Given the description of an element on the screen output the (x, y) to click on. 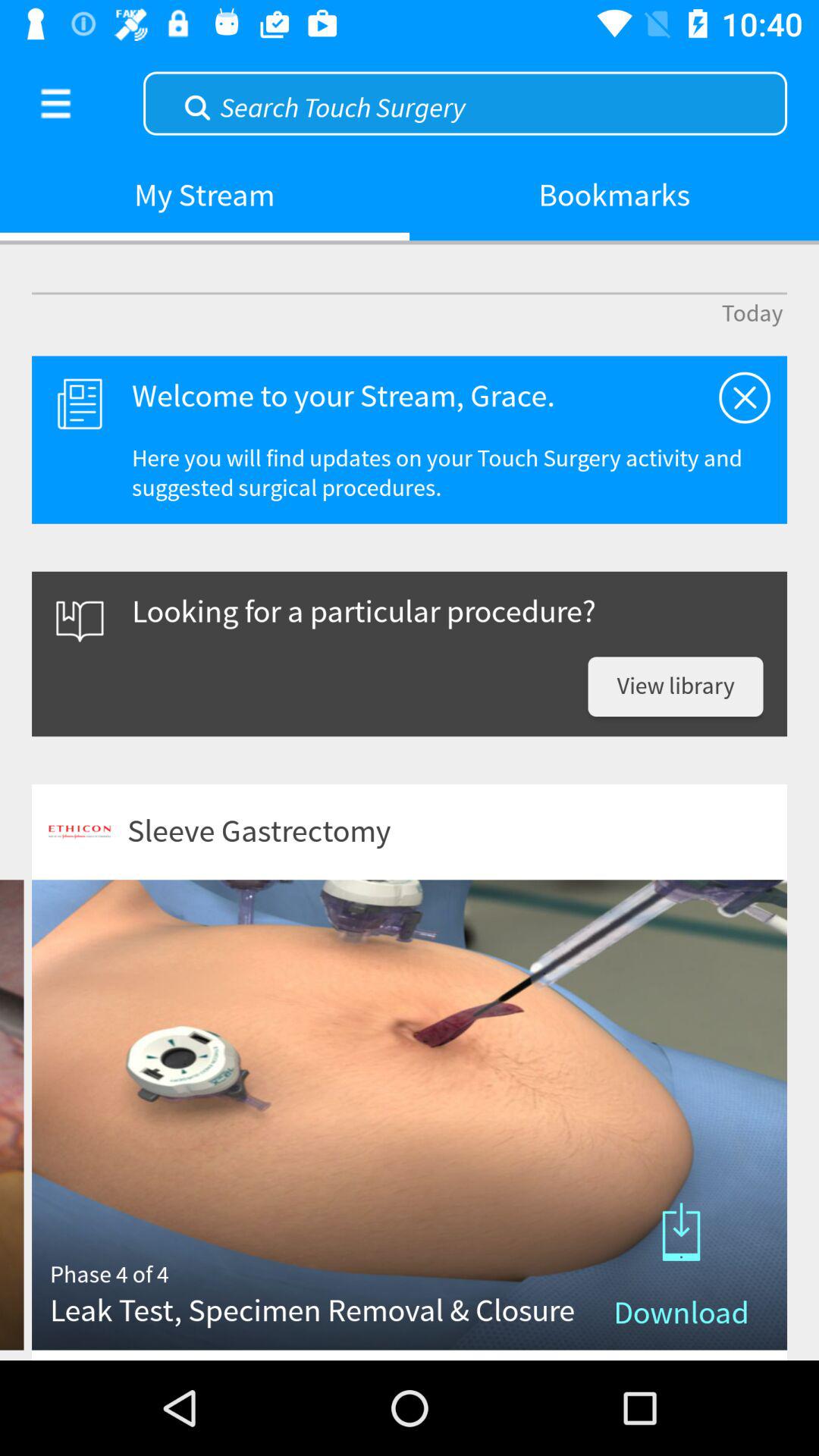
select search bar (465, 102)
